Given the description of an element on the screen output the (x, y) to click on. 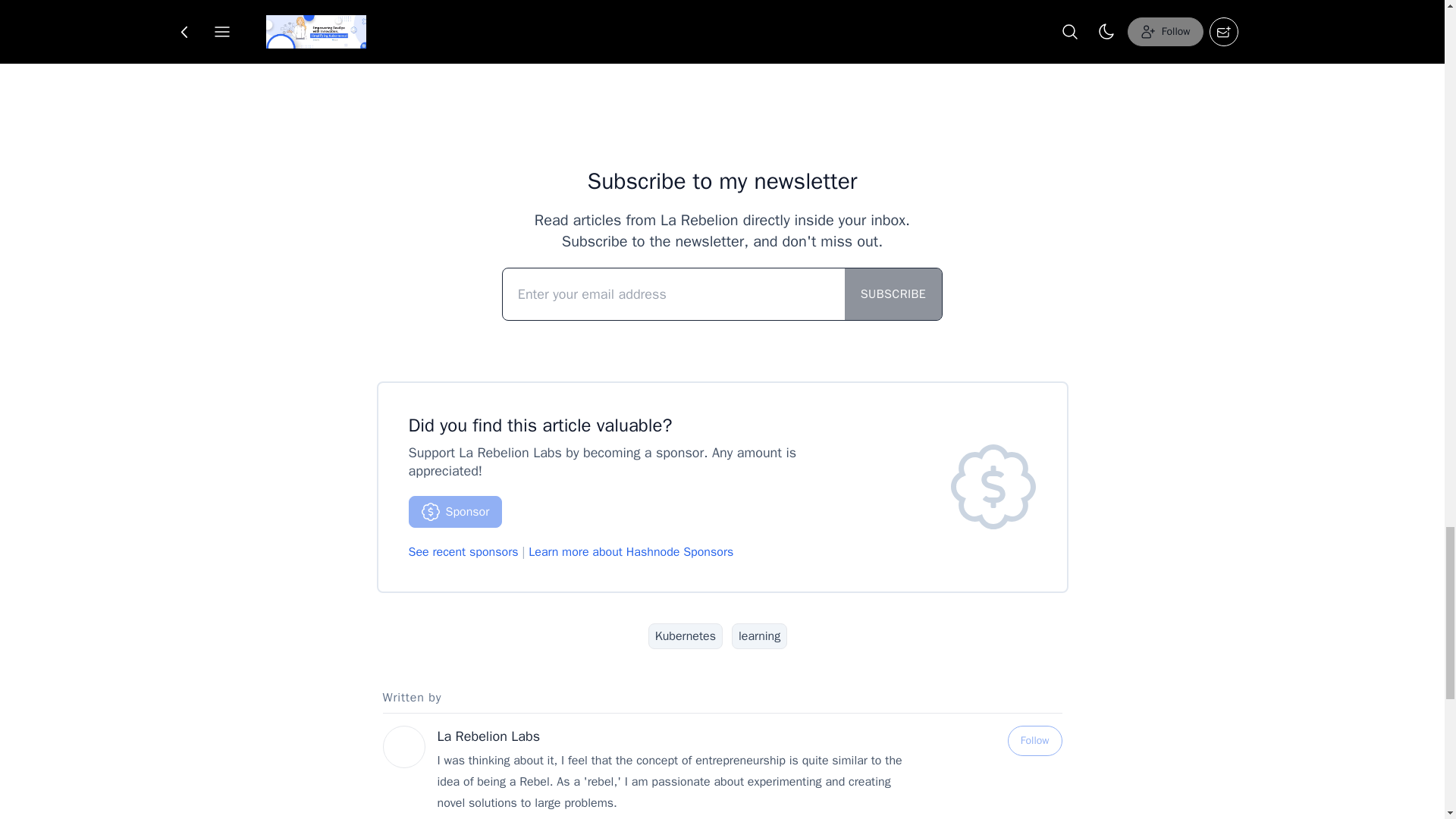
our YouTube Channel (678, 19)
subscribe (971, 1)
colleagues (698, 1)
your community (879, 1)
friends (766, 1)
